Given the description of an element on the screen output the (x, y) to click on. 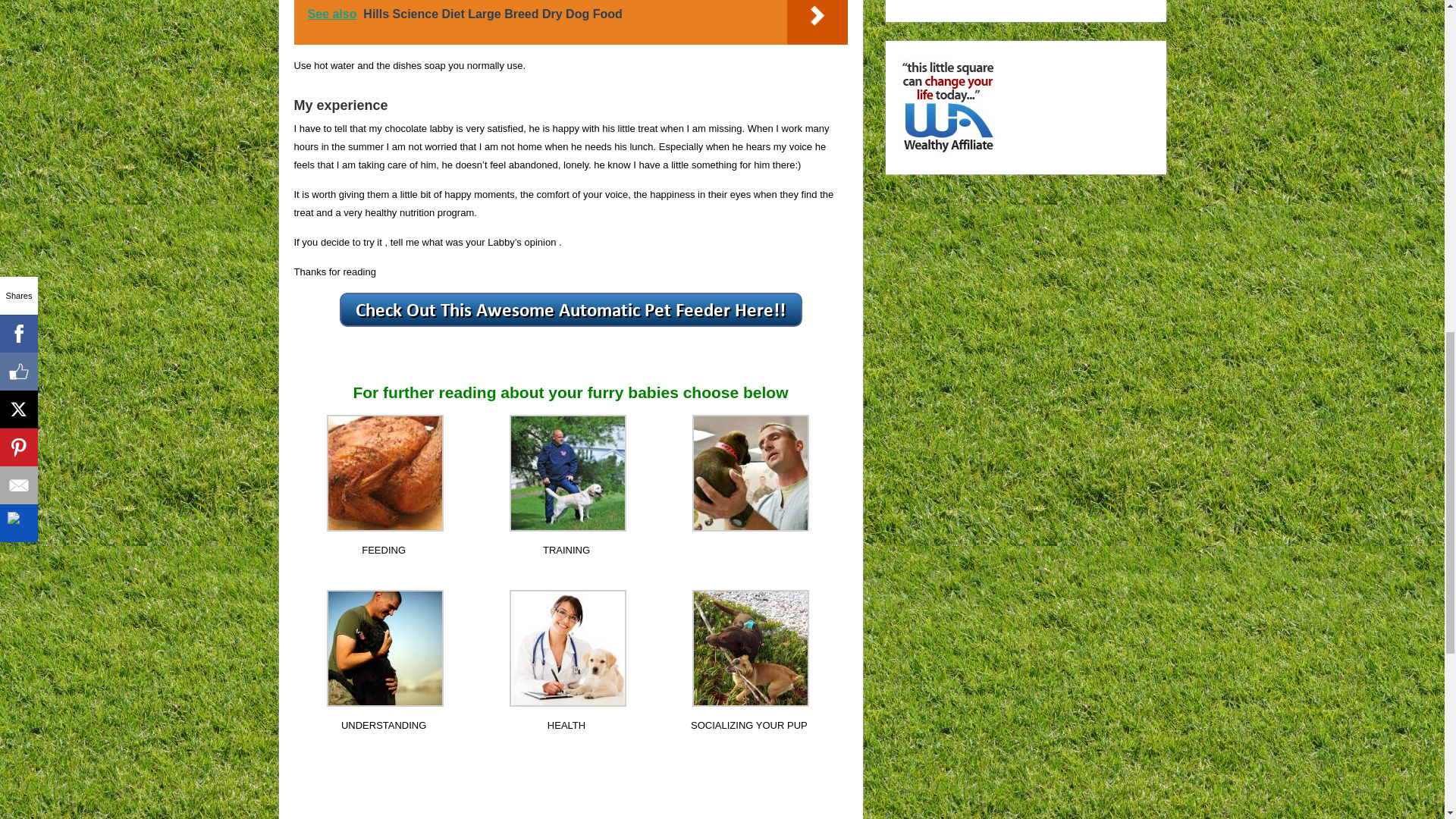
See also  Hills Science Diet Large Breed Dry Dog Food (570, 22)
